Given the description of an element on the screen output the (x, y) to click on. 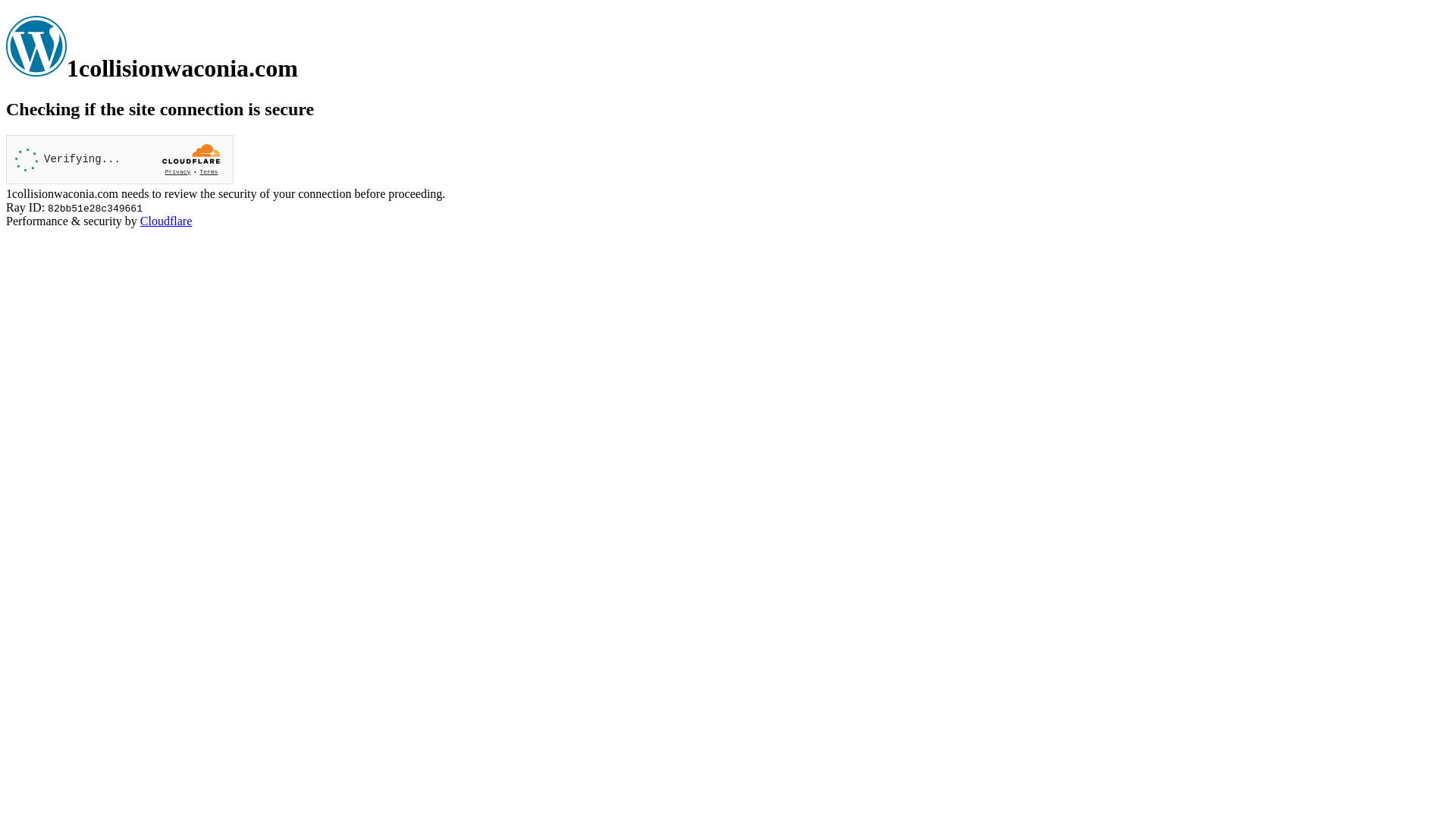
Cloudflare Element type: text (165, 220)
Widget containing a Cloudflare security challenge Element type: hover (119, 159)
